Given the description of an element on the screen output the (x, y) to click on. 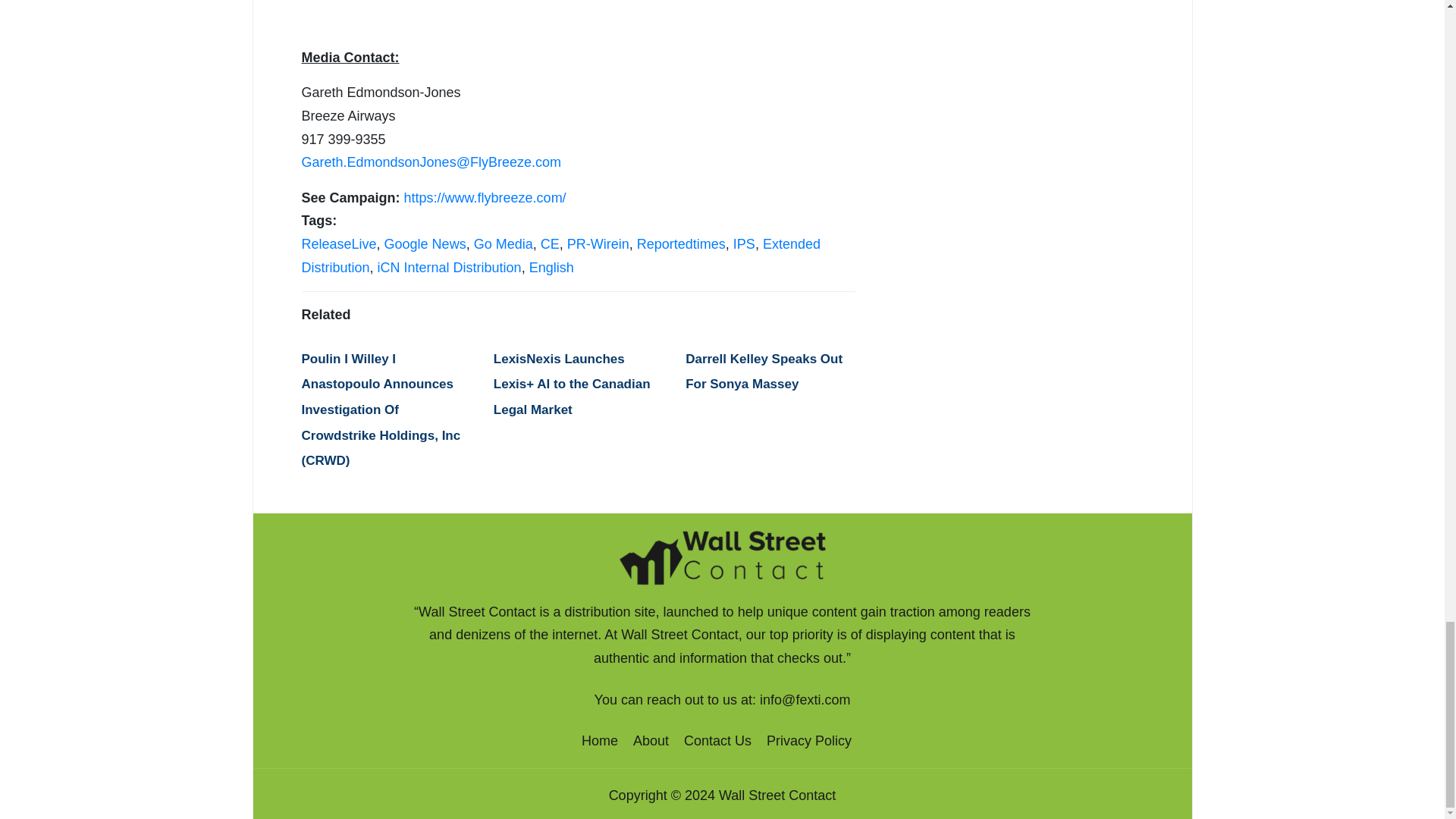
site title (721, 555)
PR-Wirein (597, 243)
Google News (424, 243)
Reportedtimes (681, 243)
English (551, 267)
CE (549, 243)
ReleaseLive (339, 243)
Extended Distribution (561, 255)
IPS (744, 243)
Go Media (503, 243)
iCN Internal Distribution (449, 267)
